Given the description of an element on the screen output the (x, y) to click on. 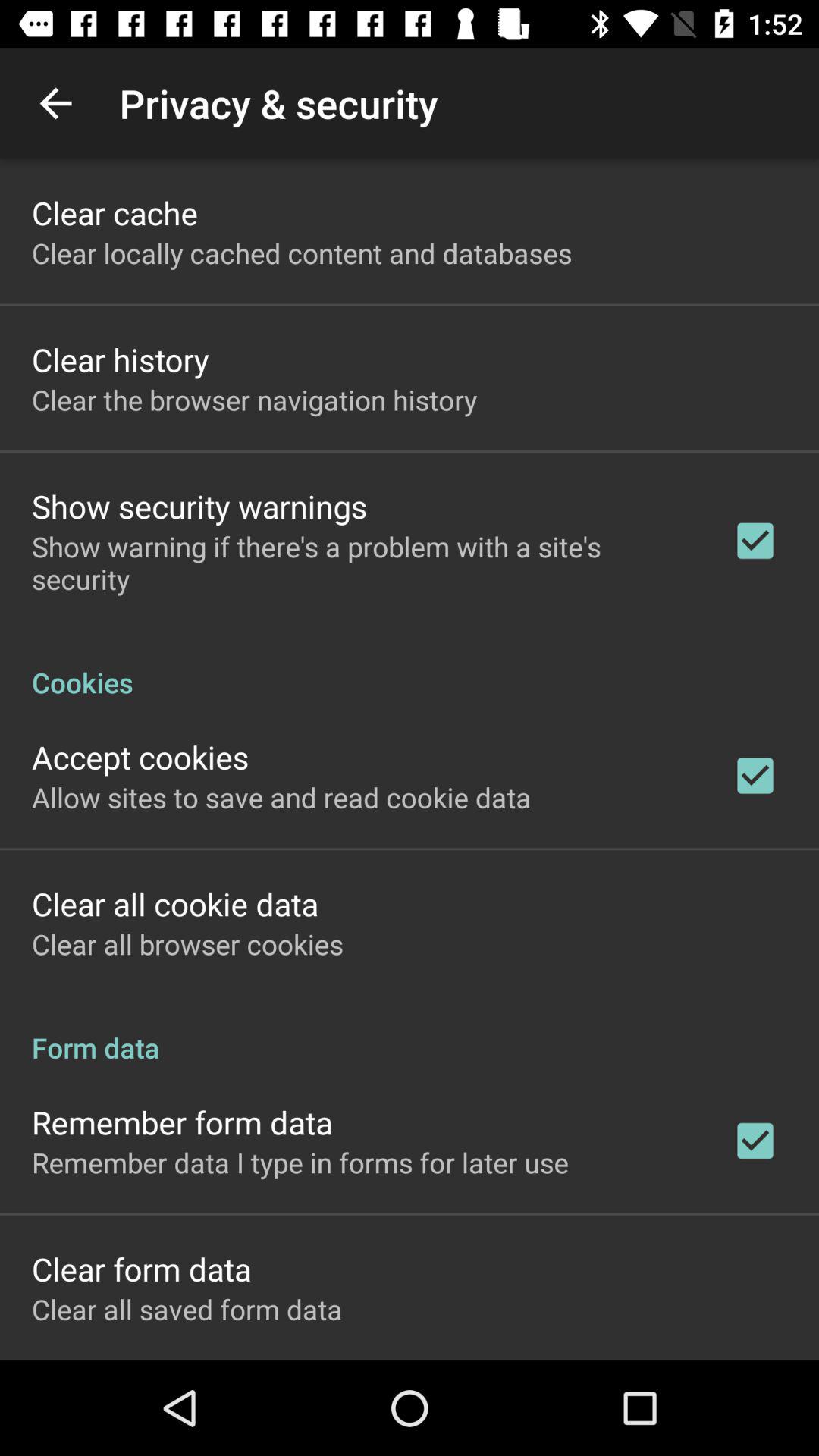
select icon above the clear locally cached (114, 212)
